Given the description of an element on the screen output the (x, y) to click on. 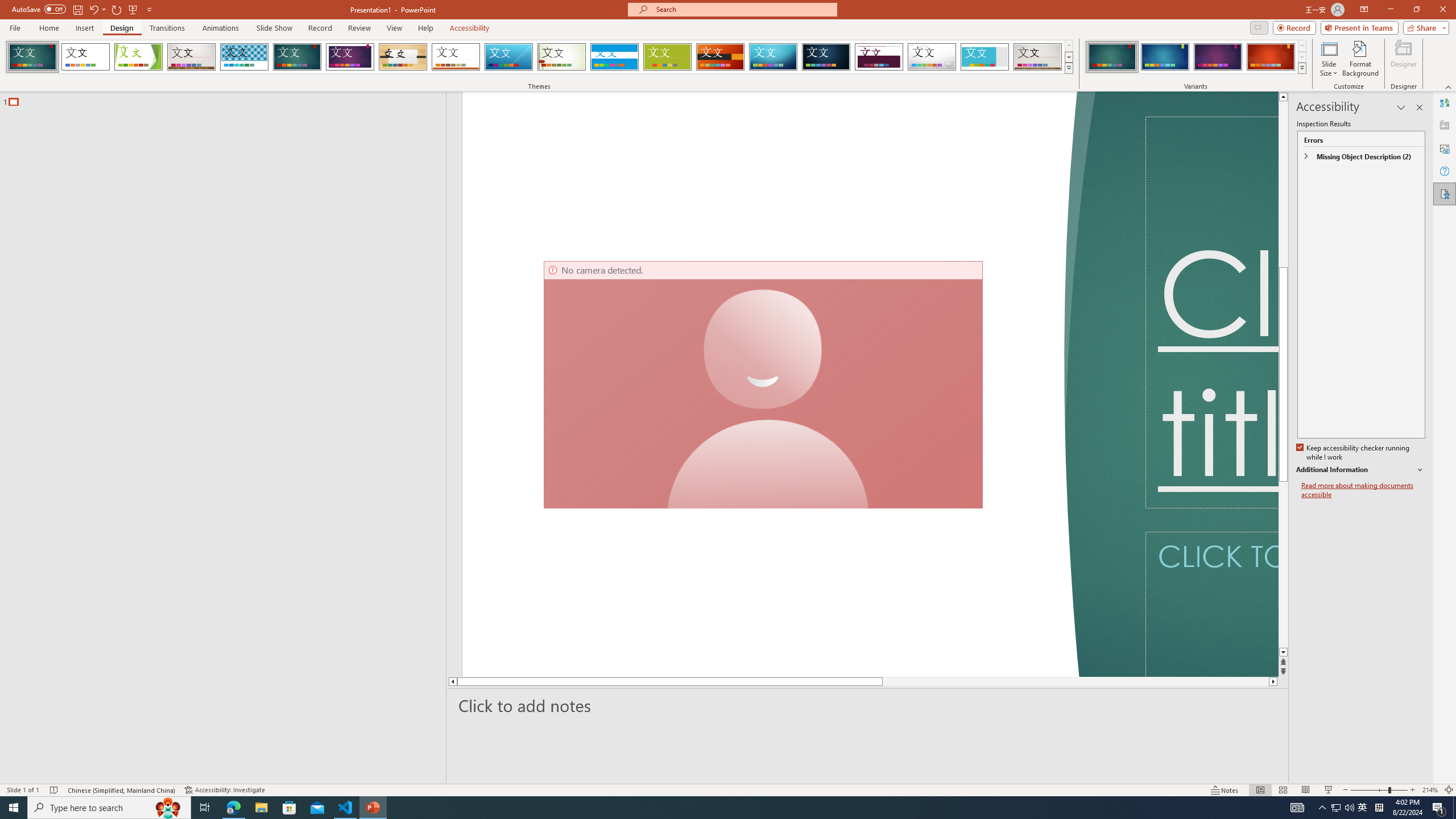
Dividend (879, 56)
Alt Text (1444, 147)
Keep accessibility checker running while I work (1353, 452)
Droplet (931, 56)
Slide Notes (868, 705)
Page down (1052, 681)
Accessibility Checker Accessibility: Investigate (226, 790)
Retrospect (455, 56)
